Given the description of an element on the screen output the (x, y) to click on. 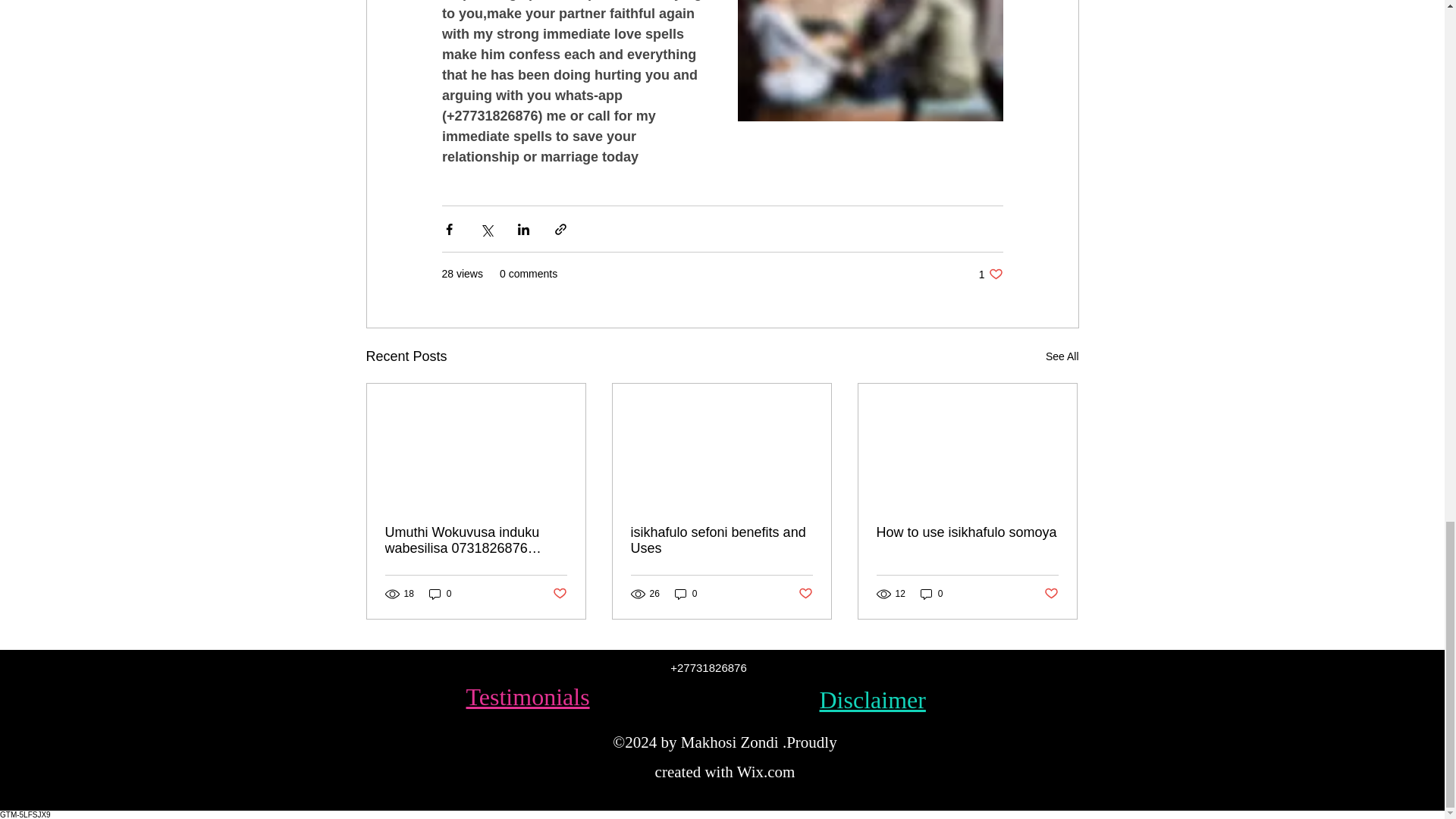
Umuthi Wokuvusa induku wabesilisa 0731826876 Makhosi (476, 540)
See All (990, 273)
